Given the description of an element on the screen output the (x, y) to click on. 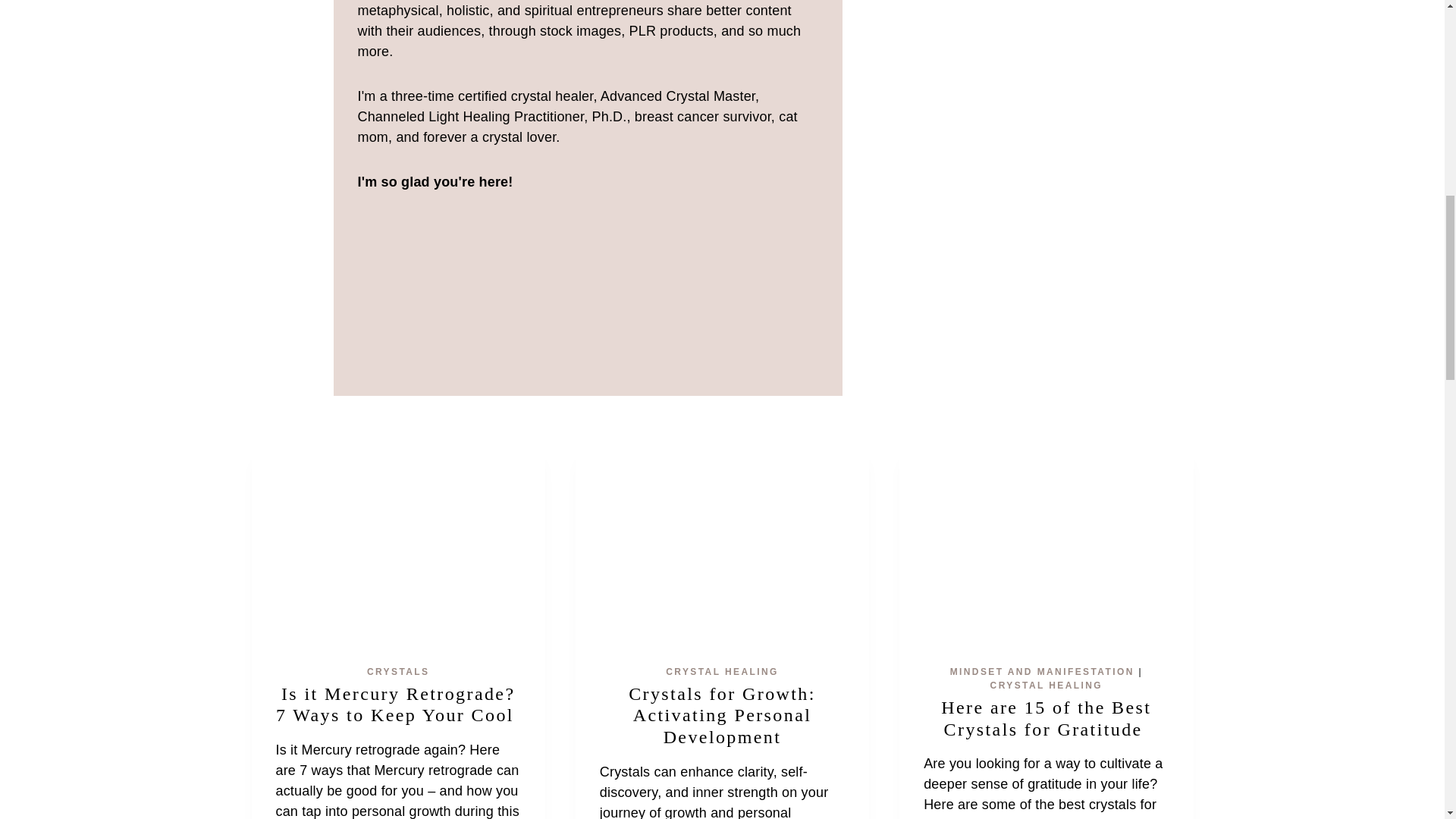
About Kristen 14 (518, 285)
About Kristen 15 (633, 286)
CRYSTALS (397, 671)
Crystals for Growth: Activating Personal Development 2 (722, 541)
About Kristen 13 (403, 287)
